Given the description of an element on the screen output the (x, y) to click on. 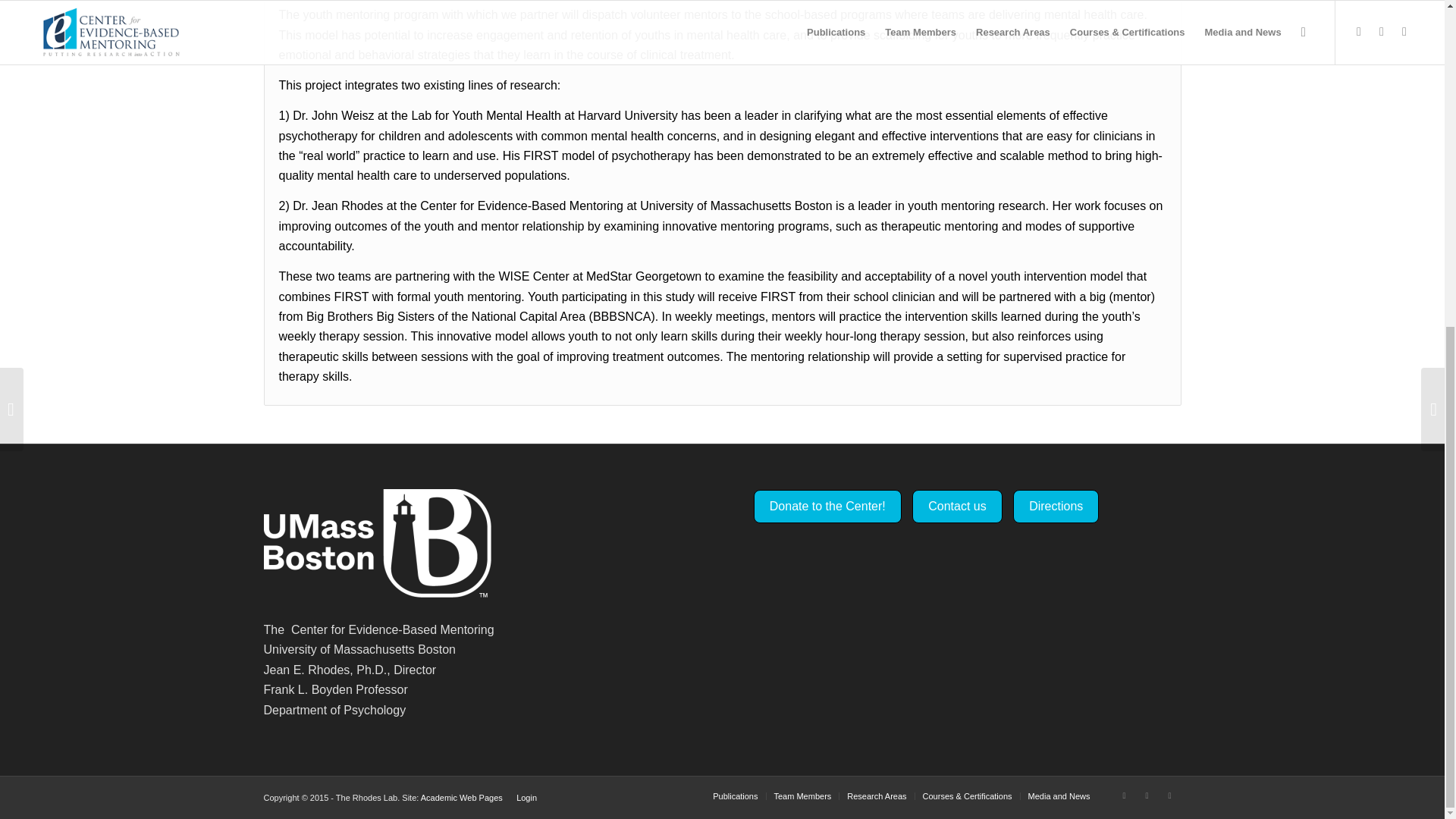
Academic Web Pages (461, 797)
Research Areas (876, 795)
X (1124, 794)
Media and News (1058, 795)
Donate to the Center! (827, 506)
Instagram (1169, 794)
Publications (735, 795)
Team Members (802, 795)
Login (526, 797)
Directions (1056, 506)
